Given the description of an element on the screen output the (x, y) to click on. 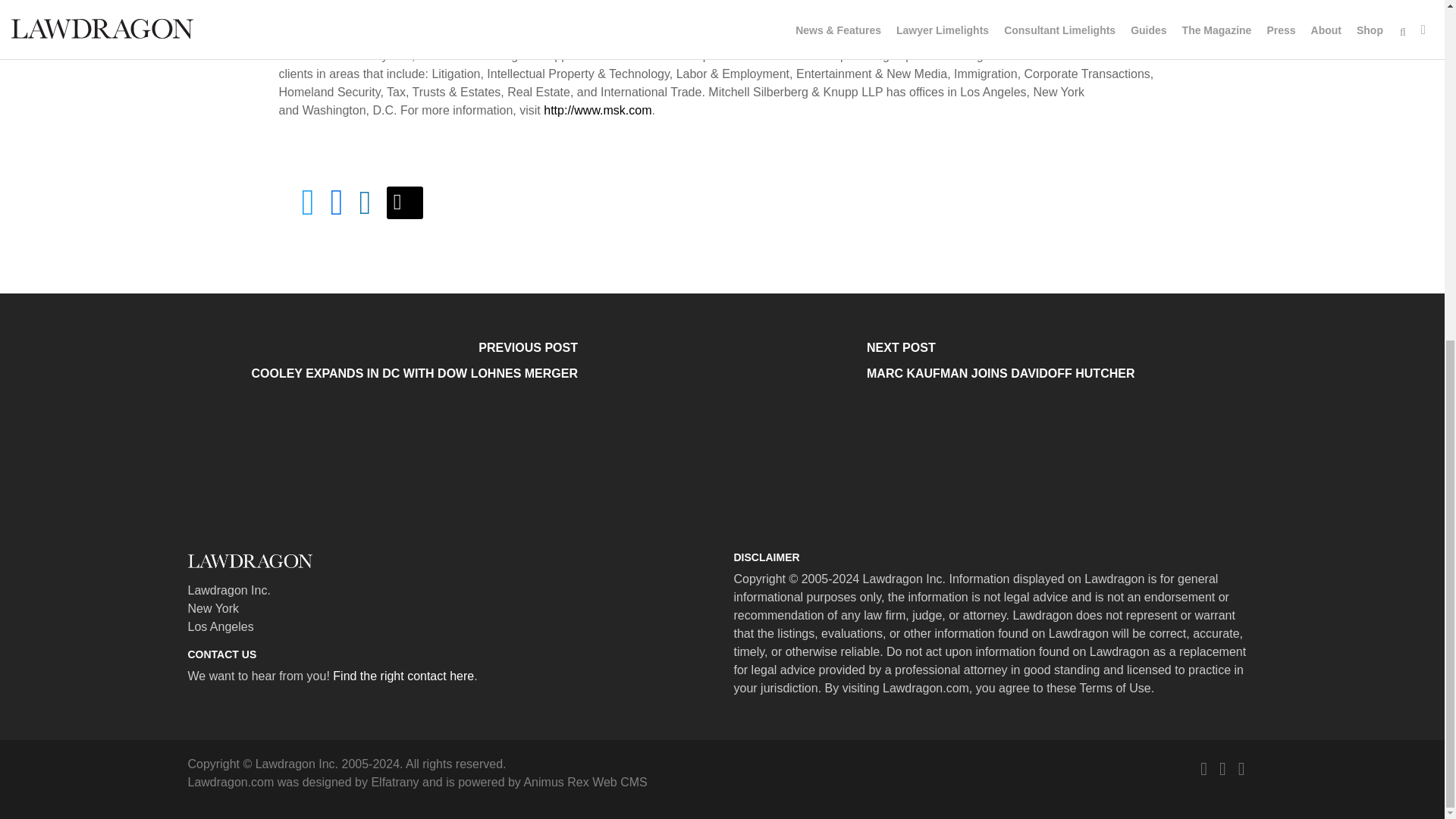
Find the right contact here (403, 675)
Elfatrany (395, 781)
Email (584, 781)
